Given the description of an element on the screen output the (x, y) to click on. 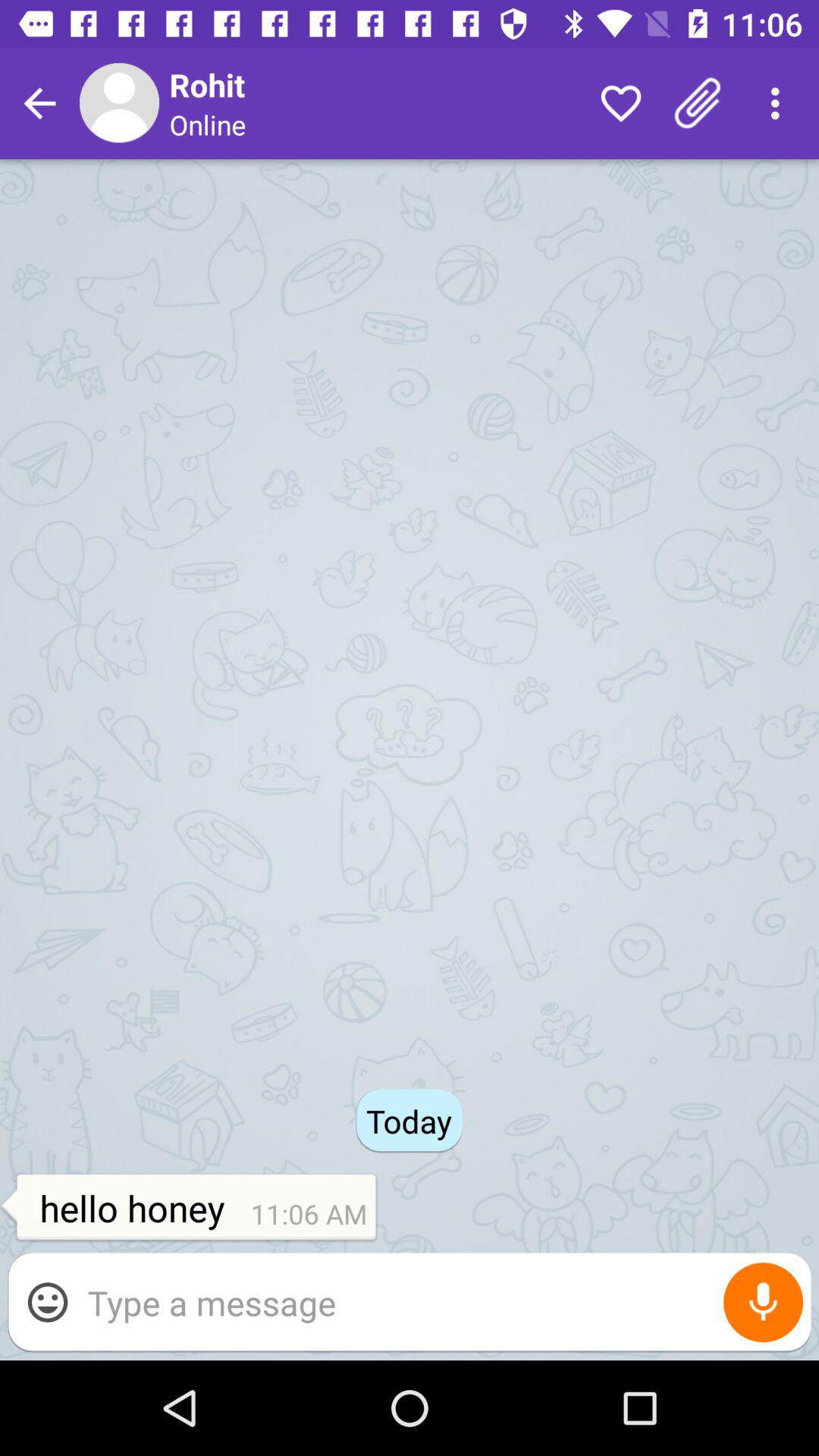
go to type (441, 1302)
